Given the description of an element on the screen output the (x, y) to click on. 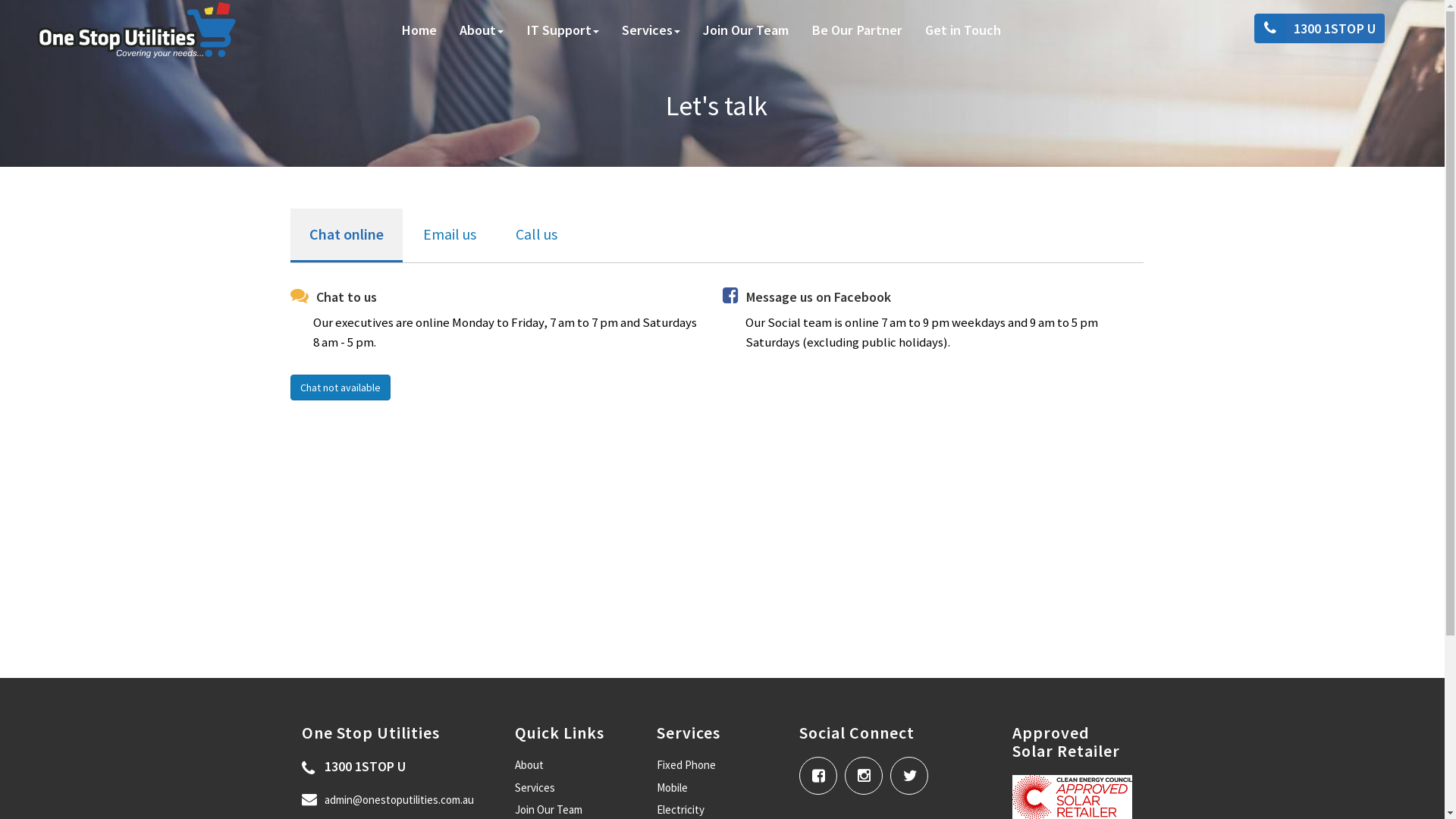
Join Our Team Element type: text (548, 809)
Email us Element type: text (448, 234)
Chat not available Element type: text (339, 387)
Call us Element type: text (535, 234)
Be Our Partner Element type: text (856, 30)
Home Element type: text (418, 30)
Electricity Element type: text (680, 809)
Get in Touch Element type: text (962, 30)
Join Our Team Element type: text (745, 30)
Services Element type: text (650, 30)
admin@onestoputilities.com.au Element type: text (387, 799)
Mobile Element type: text (671, 787)
  Element type: text (867, 768)
  Element type: text (912, 768)
Chat online Element type: text (345, 235)
About Element type: text (481, 30)
IT Support Element type: text (562, 30)
1300 1STOP U Element type: text (353, 766)
Fixed Phone Element type: text (685, 764)
Services Element type: text (534, 787)
About Element type: text (528, 764)
  Element type: text (821, 768)
1300 1STOP U Element type: text (1323, 28)
